Given the description of an element on the screen output the (x, y) to click on. 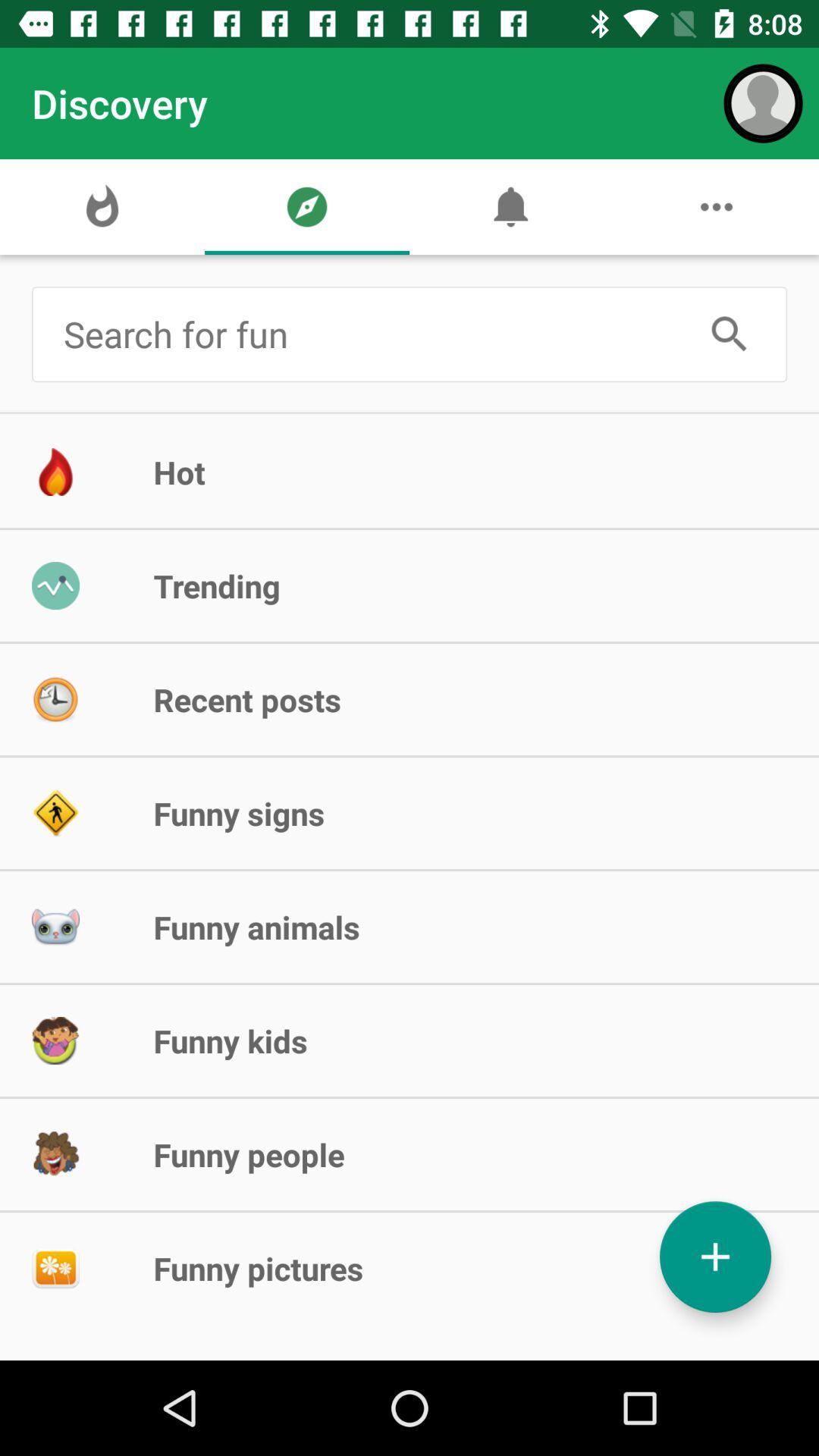
search inputted text (729, 334)
